Given the description of an element on the screen output the (x, y) to click on. 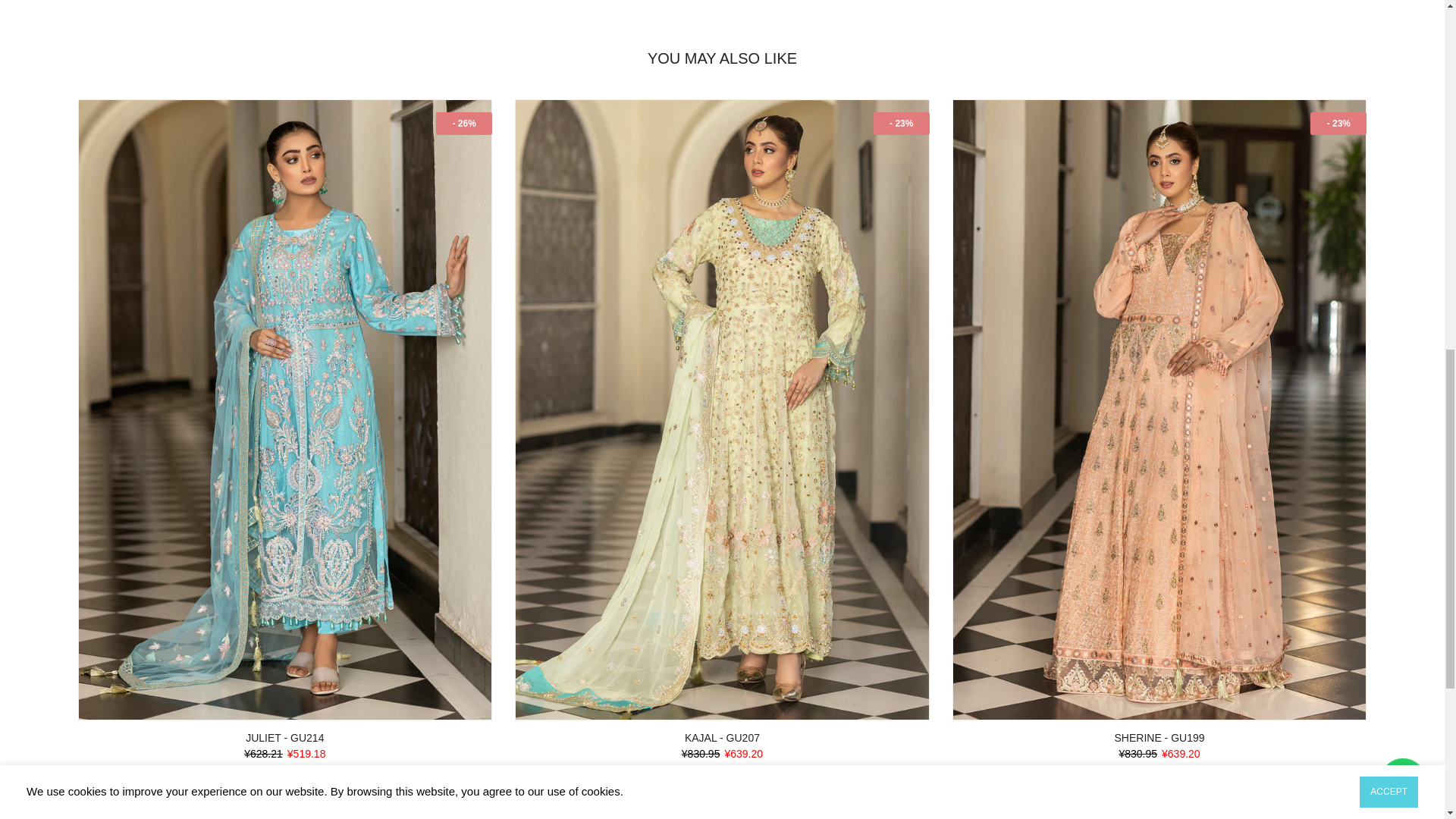
YOU MAY ALSO LIKE (721, 57)
1 (1210, 35)
